Given the description of an element on the screen output the (x, y) to click on. 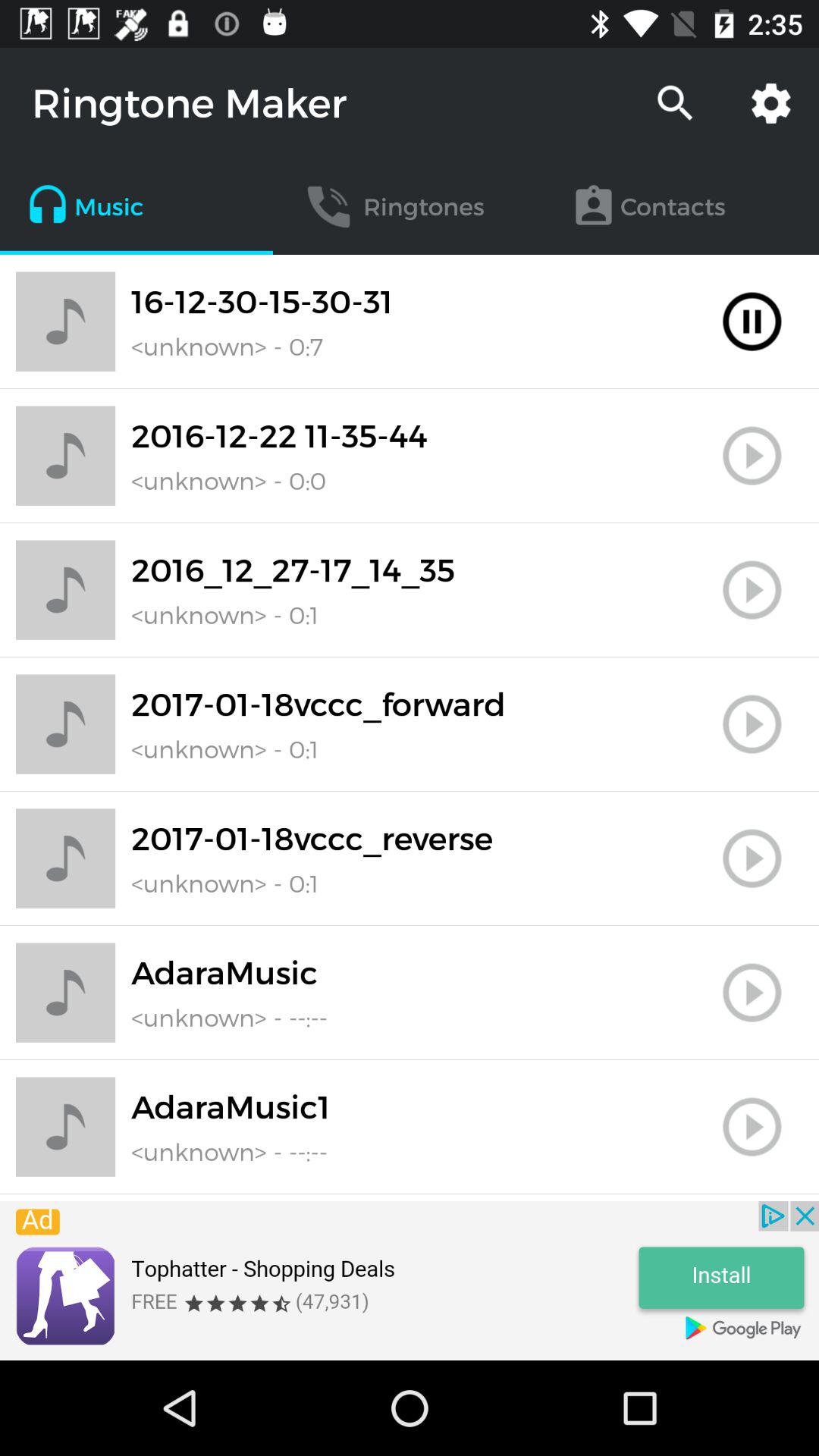
go to pay option (752, 992)
